Given the description of an element on the screen output the (x, y) to click on. 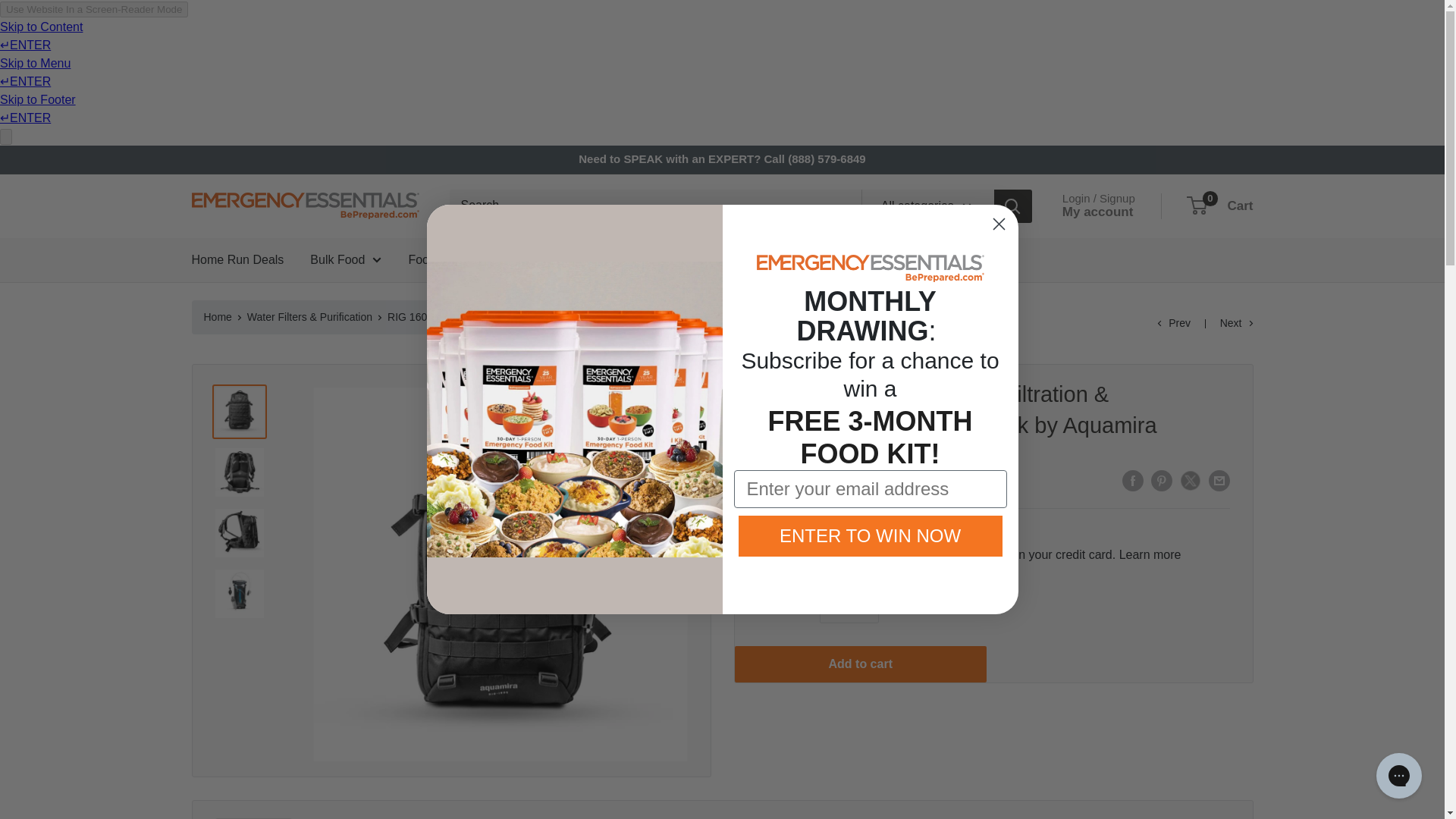
Gorgias live chat messenger (1398, 775)
Search BePrepared.com (654, 205)
